Given the description of an element on the screen output the (x, y) to click on. 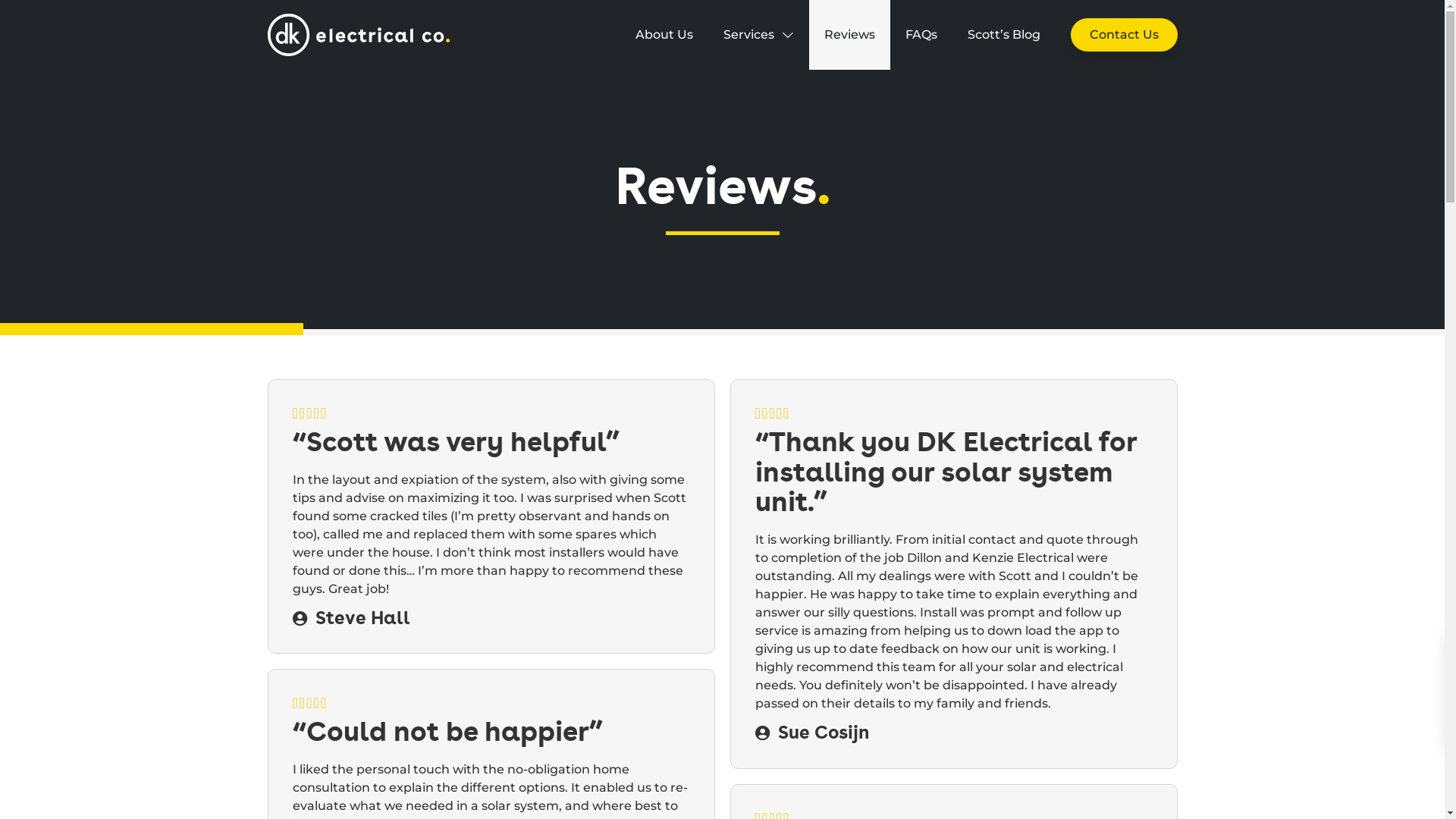
Contact Us Element type: text (1123, 34)
FAQs Element type: text (921, 34)
Reviews Element type: text (848, 34)
About Us Element type: text (664, 34)
Services Element type: text (758, 34)
